Given the description of an element on the screen output the (x, y) to click on. 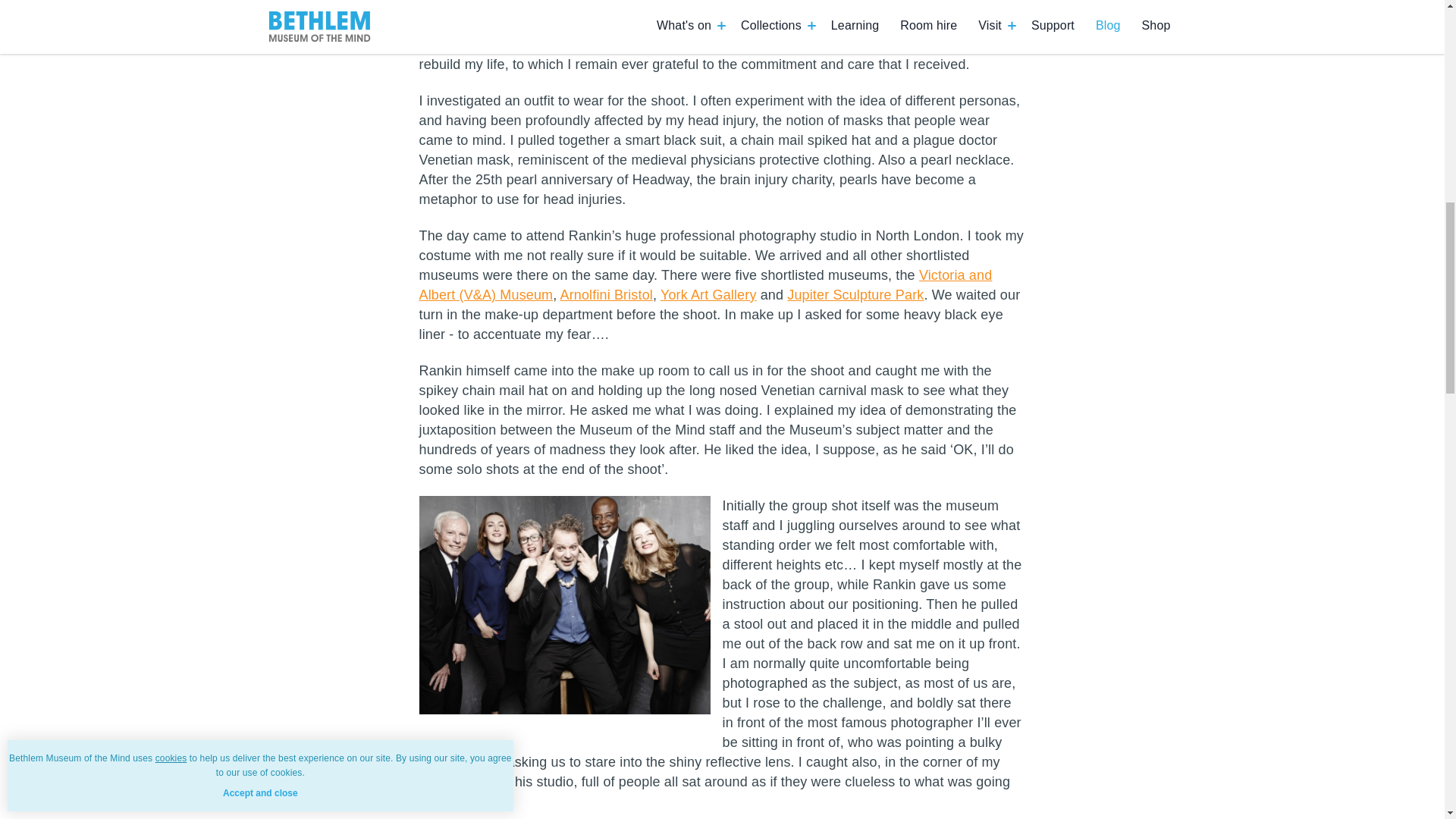
York Art Gallery (709, 294)
Arnolfini Bristol (606, 294)
Jupiter Sculpture Park (855, 294)
